Given the description of an element on the screen output the (x, y) to click on. 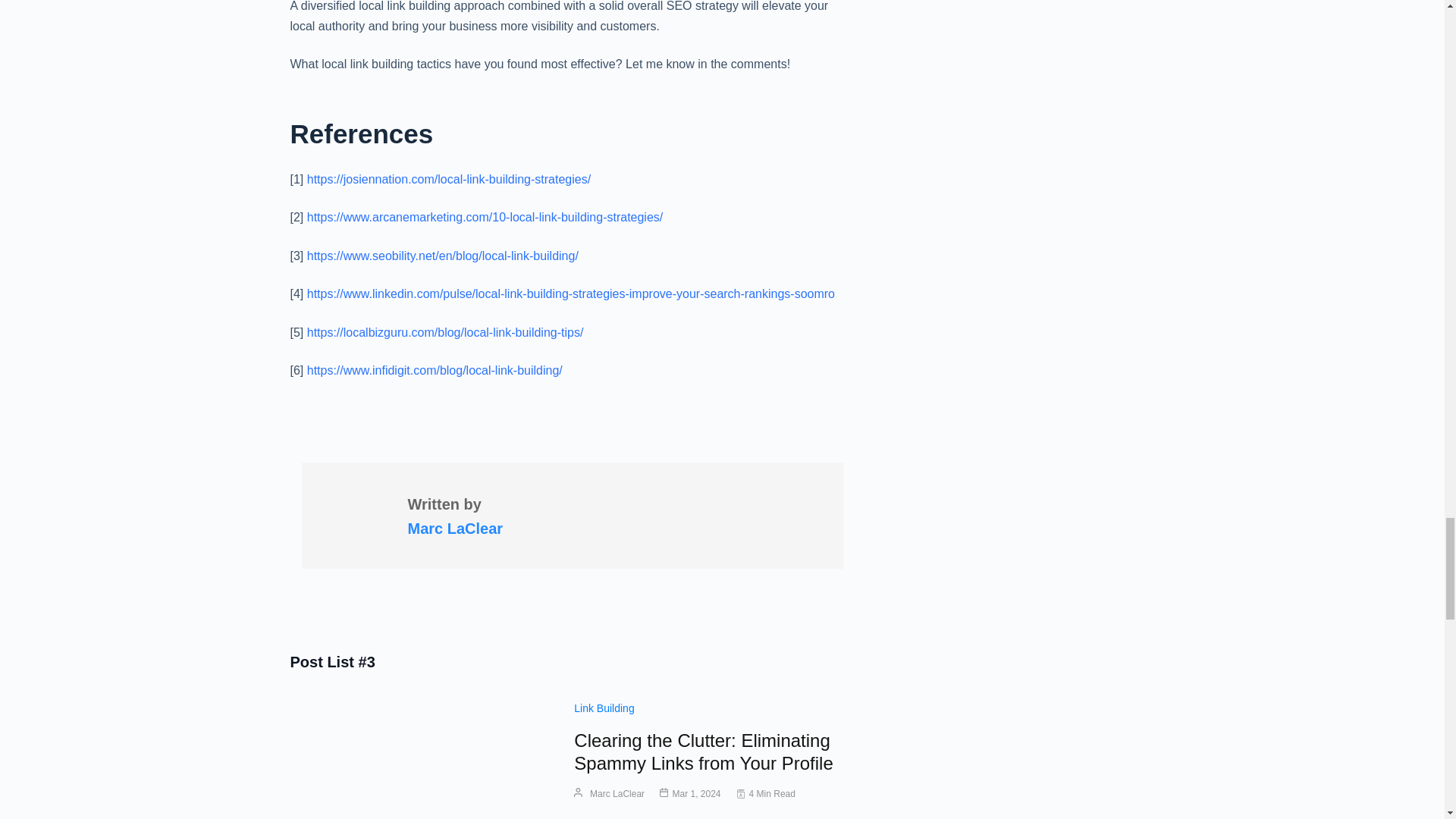
Link Building (603, 708)
Marc LaClear (617, 793)
Marc LaClear (455, 528)
